Given the description of an element on the screen output the (x, y) to click on. 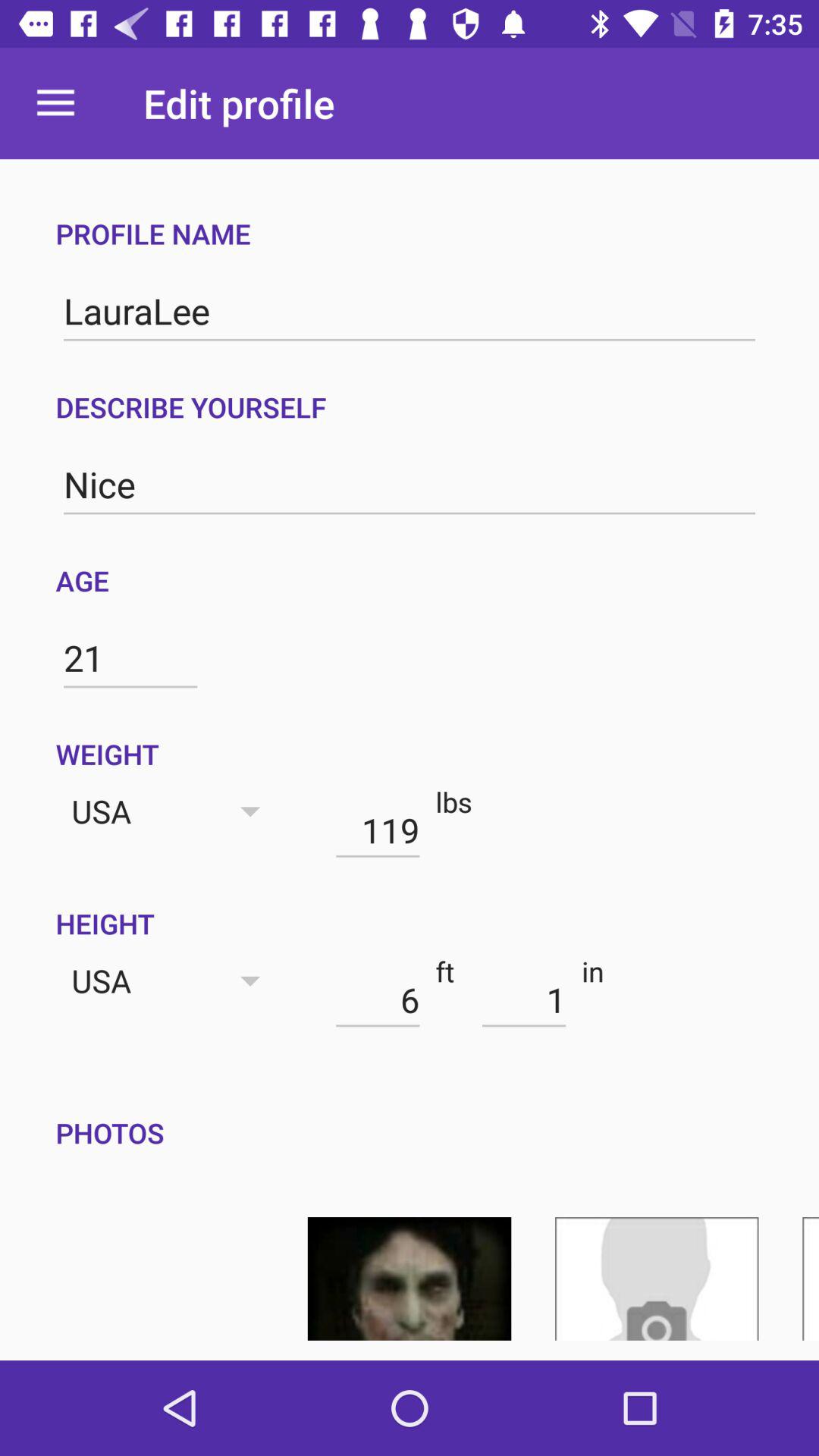
press 21 (130, 658)
